Given the description of an element on the screen output the (x, y) to click on. 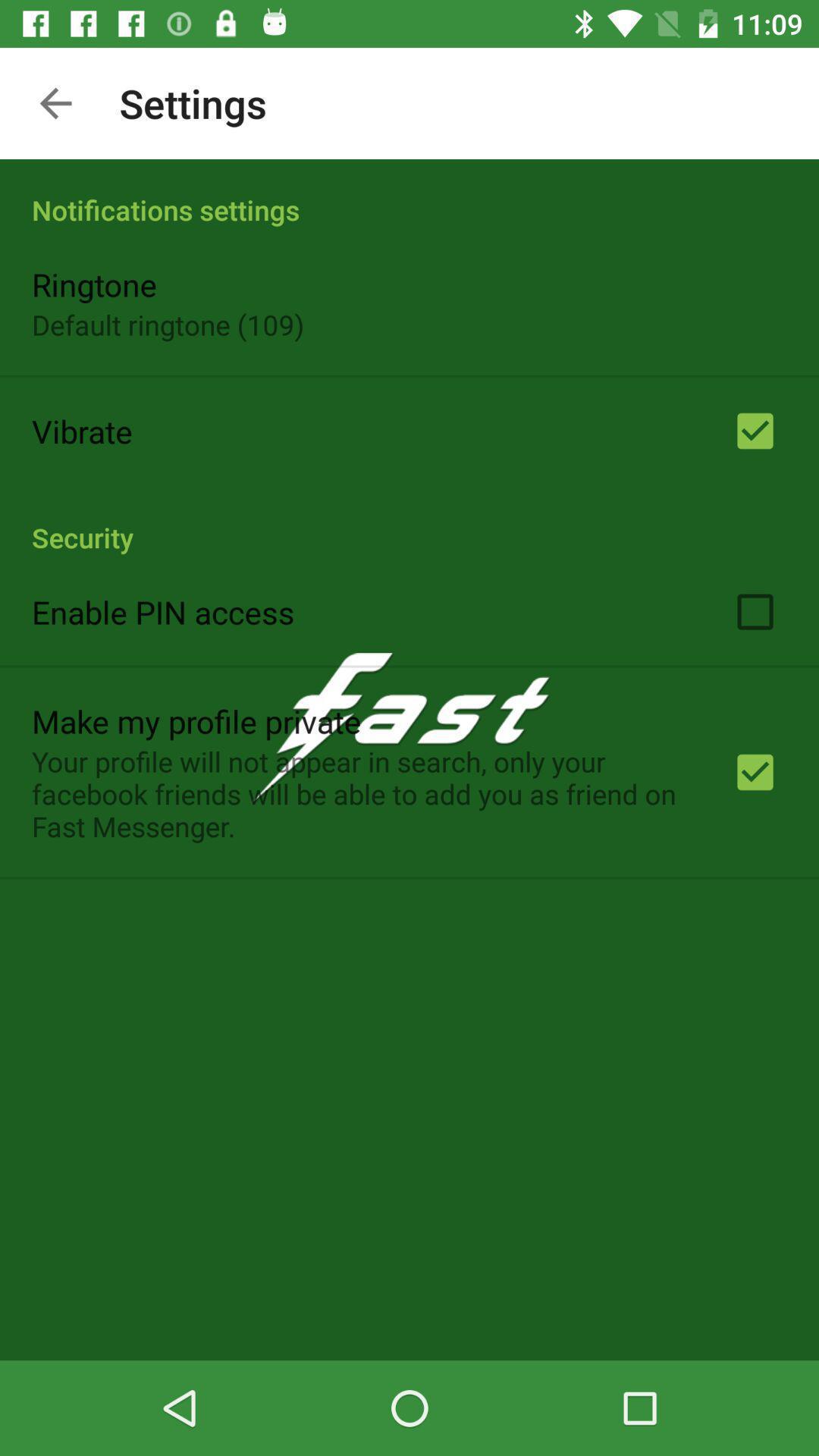
swipe to default ringtone (109) icon (167, 324)
